Given the description of an element on the screen output the (x, y) to click on. 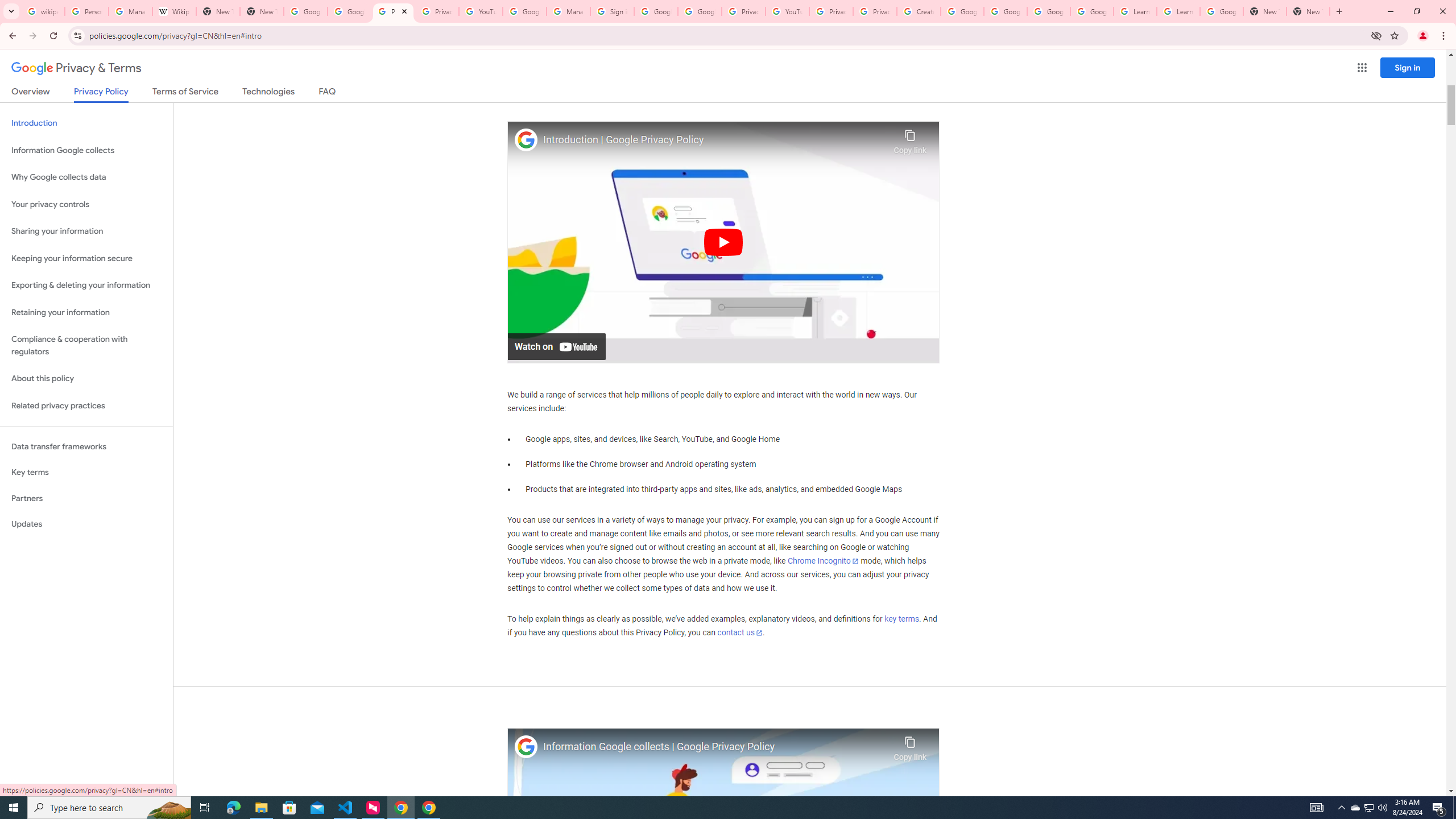
Information Google collects (86, 150)
Related privacy practices (86, 405)
contact us (739, 633)
Google Account (1221, 11)
Google Account Help (1005, 11)
Create your Google Account (918, 11)
